Given the description of an element on the screen output the (x, y) to click on. 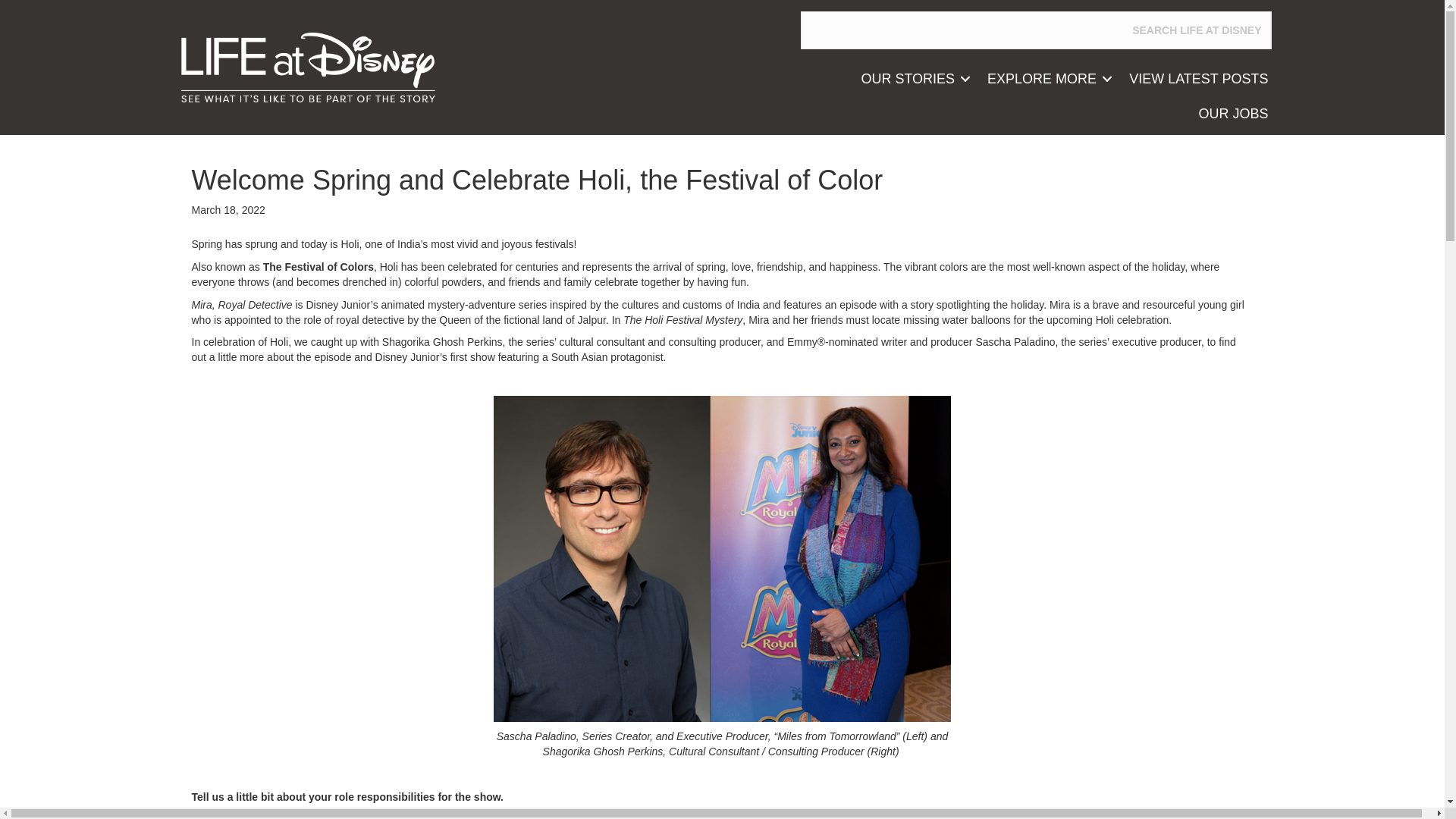
White F LAD Outlines 423 (306, 67)
OUR STORIES (912, 78)
EXPLORE MORE (1047, 78)
VIEW LATEST POSTS (1198, 78)
OUR JOBS (1233, 113)
